Given the description of an element on the screen output the (x, y) to click on. 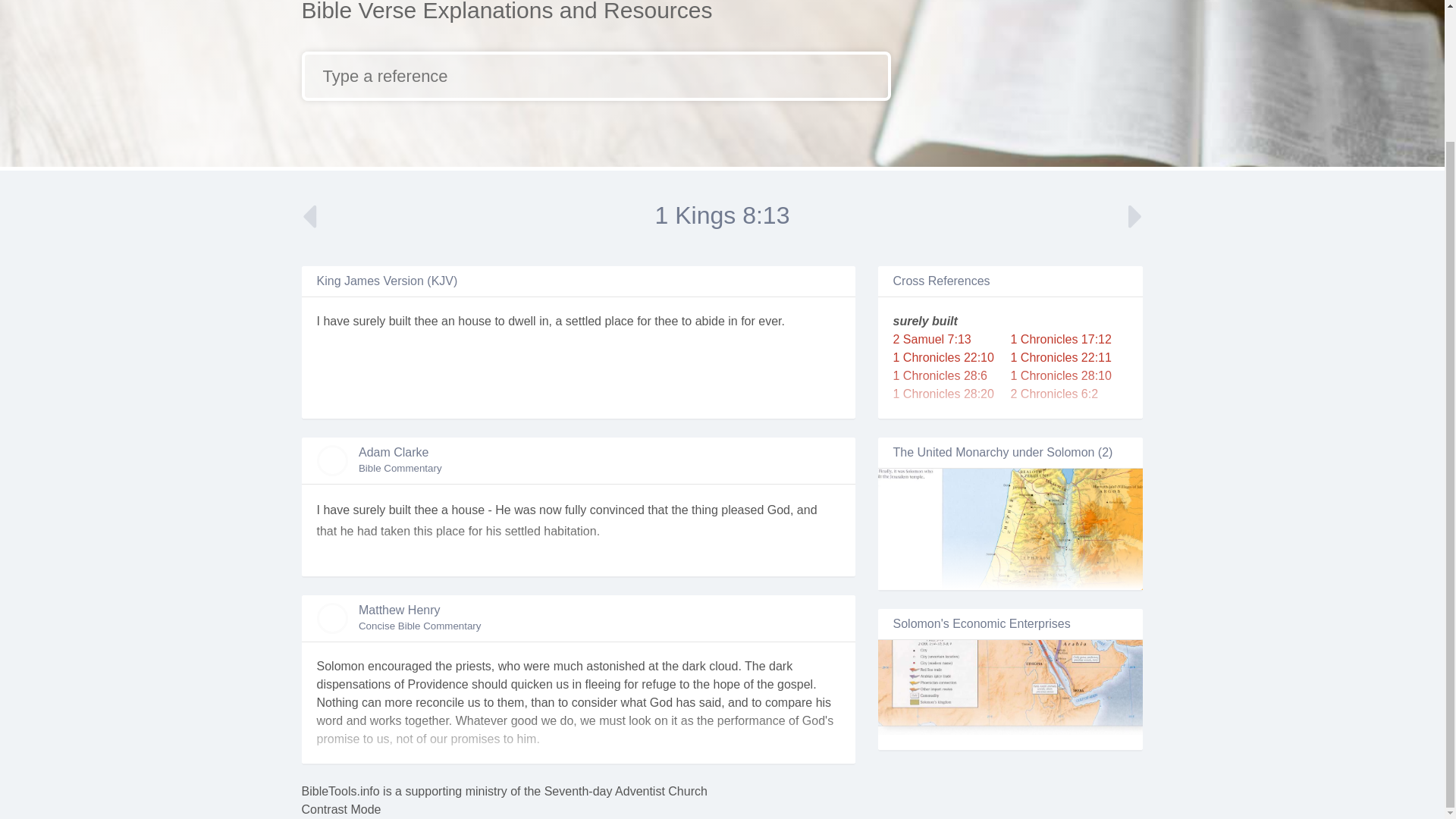
for (643, 320)
built (399, 320)
an (447, 320)
for (748, 320)
dwell (521, 320)
abide (710, 320)
thee (665, 320)
settled (583, 320)
thee (426, 320)
have (336, 320)
